Given the description of an element on the screen output the (x, y) to click on. 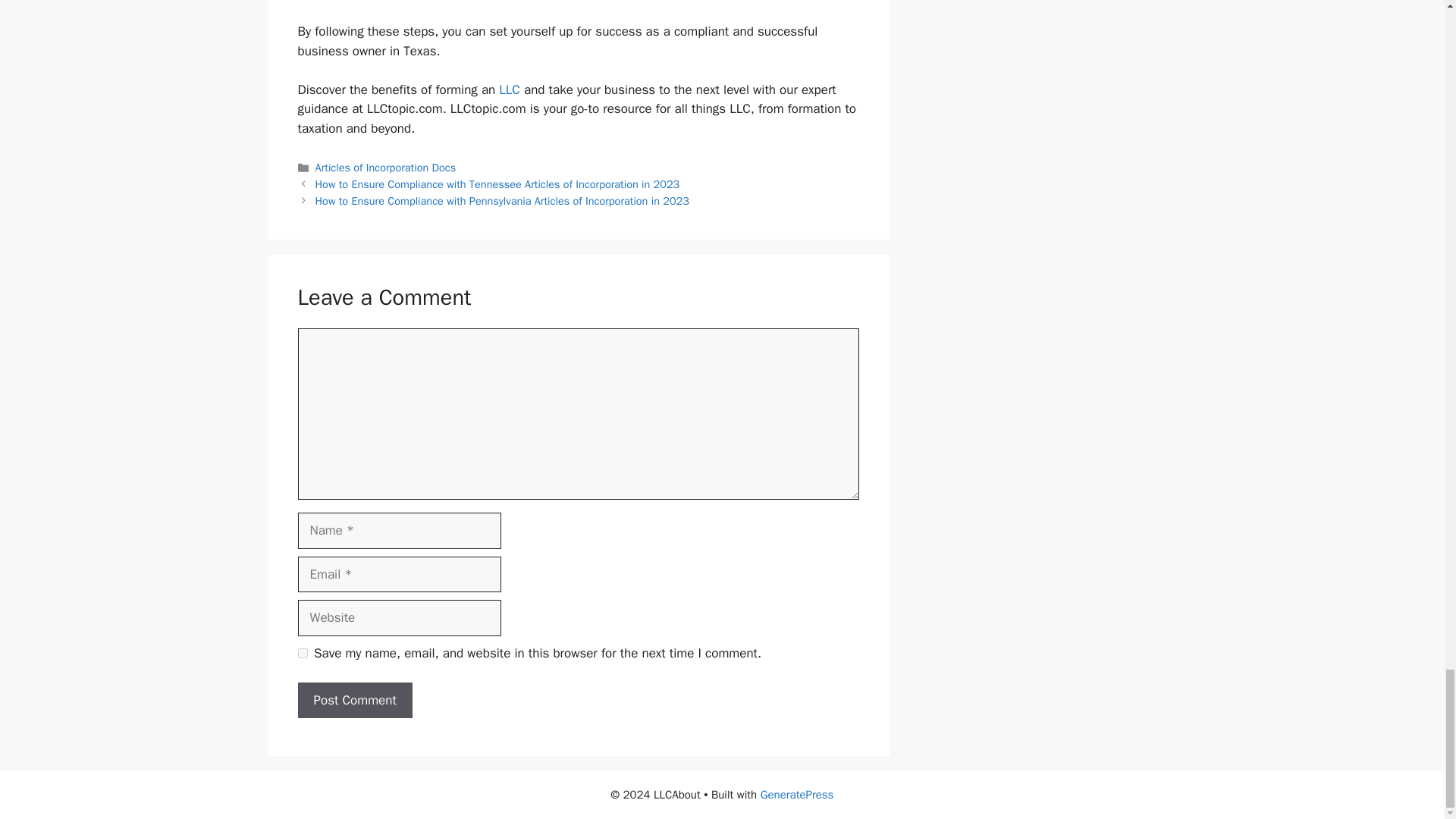
yes (302, 653)
Post Comment (354, 700)
Get Started with an LLC in 2024: A Comprehensive Guide (509, 89)
GeneratePress (797, 794)
Articles of Incorporation Docs (386, 167)
LLC (509, 89)
Post Comment (354, 700)
